Given the description of an element on the screen output the (x, y) to click on. 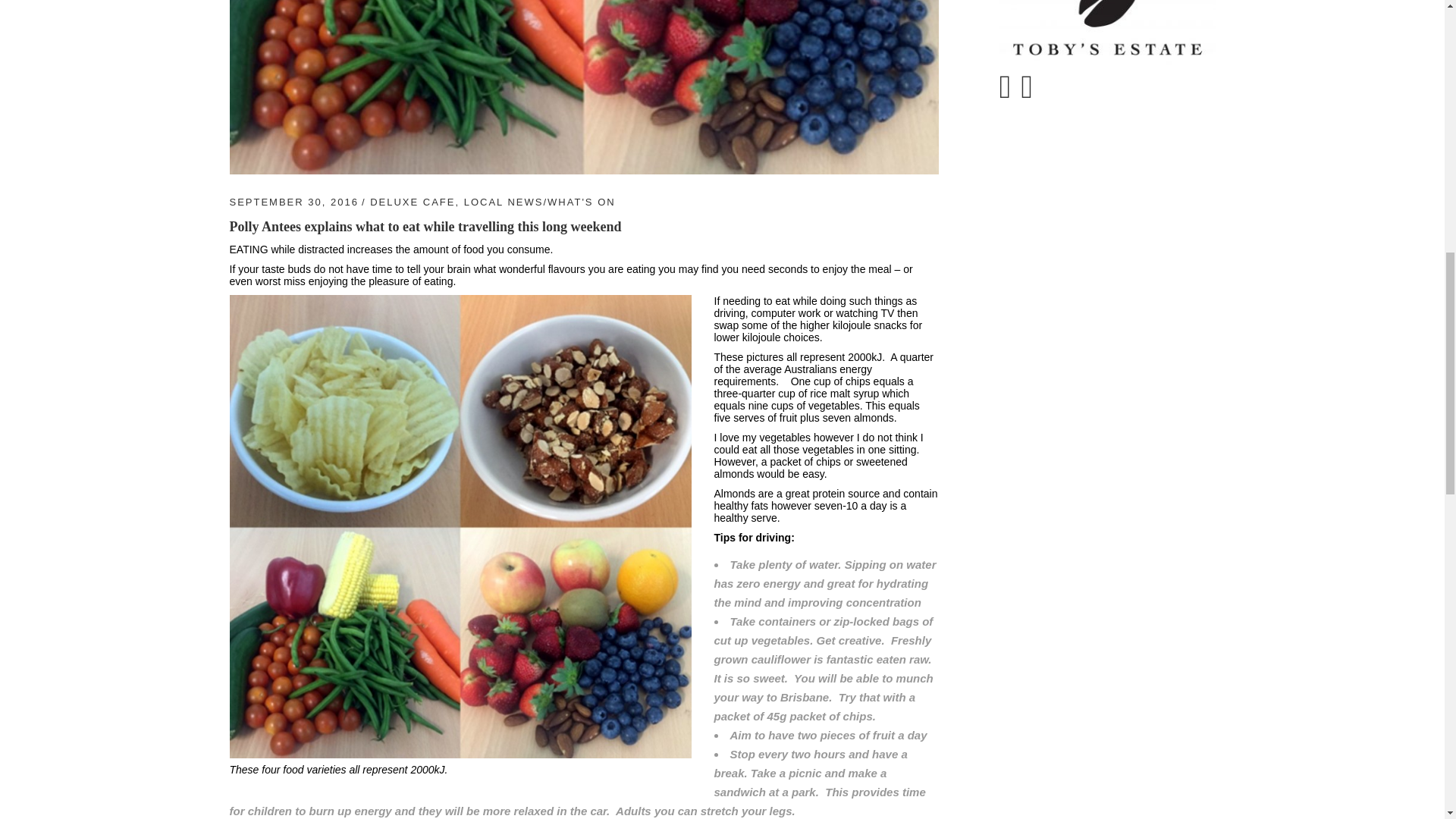
DELUXE CAFE (411, 202)
